Given the description of an element on the screen output the (x, y) to click on. 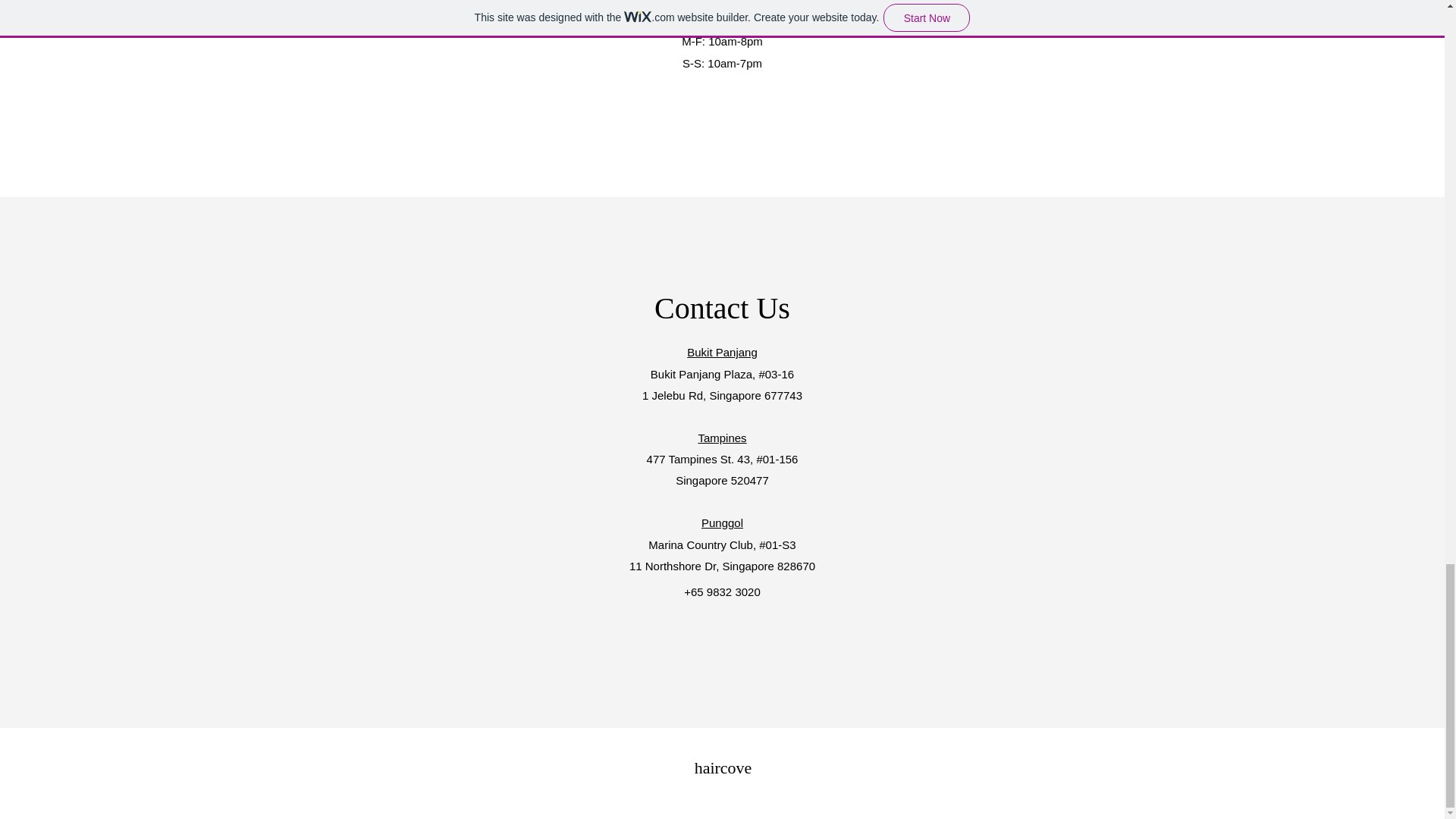
haircove (723, 767)
